Given the description of an element on the screen output the (x, y) to click on. 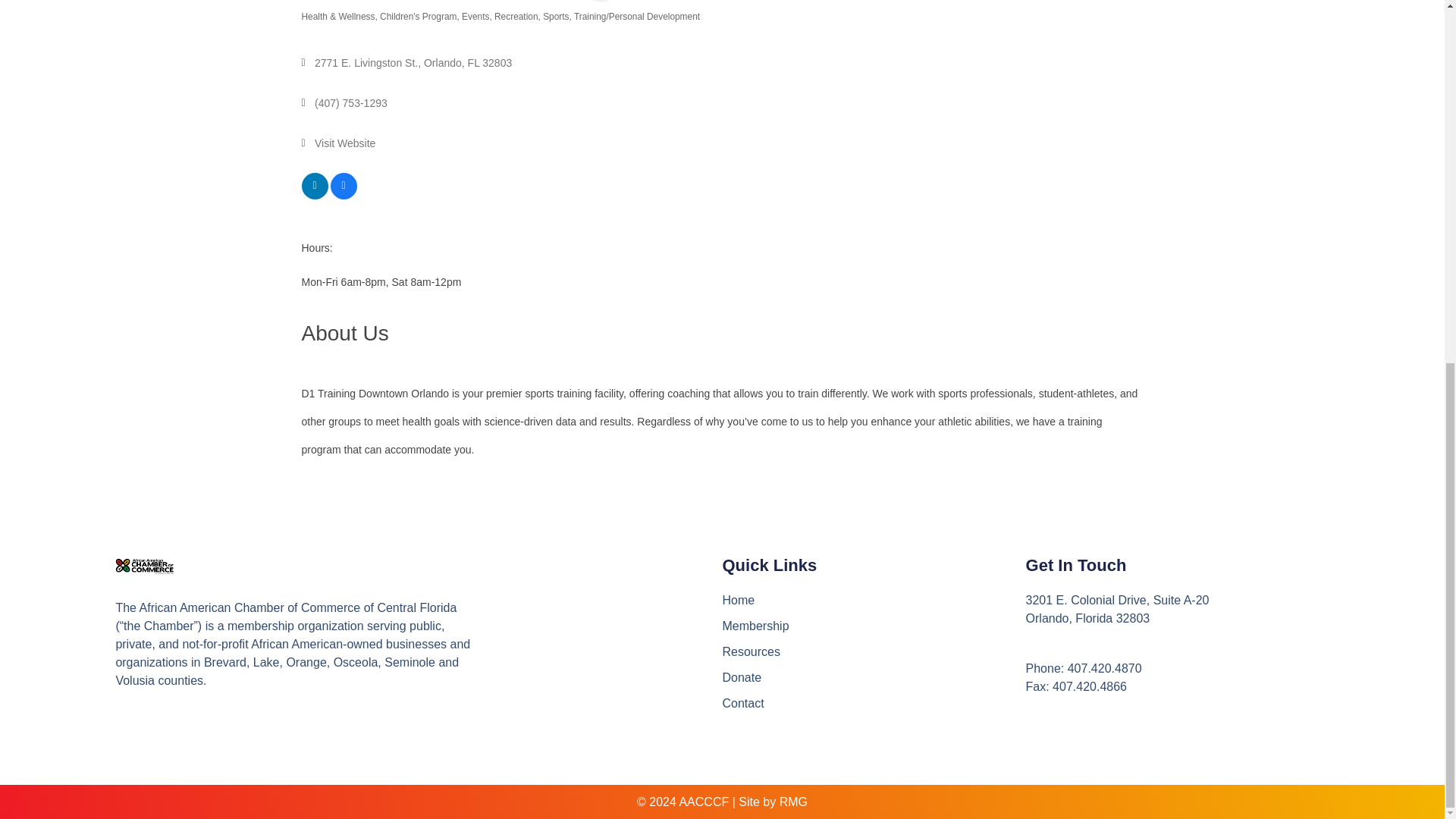
View on Facebook (343, 195)
View on LinkedIn (315, 195)
